Given the description of an element on the screen output the (x, y) to click on. 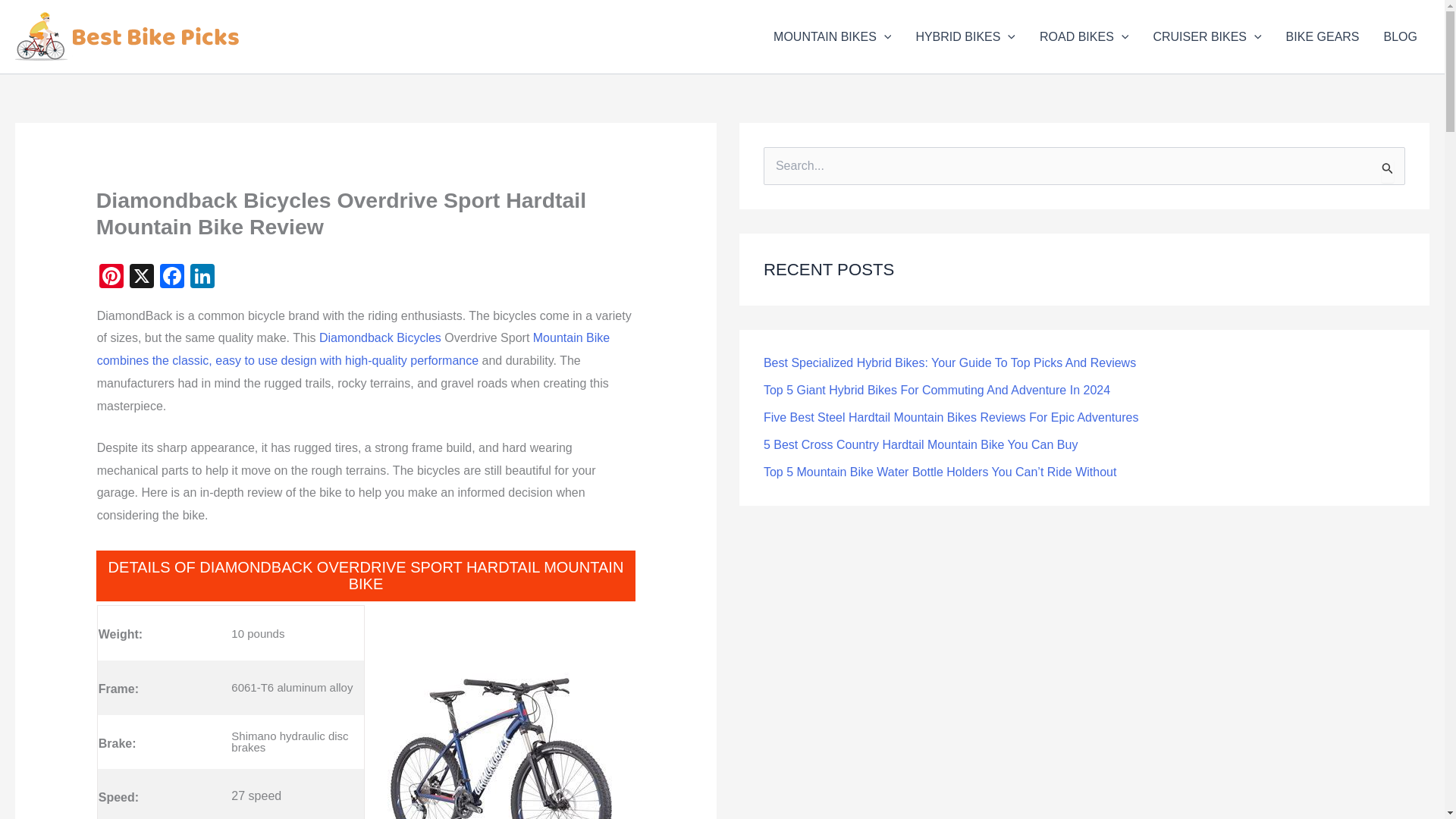
X (141, 277)
CRUISER BIKES (1206, 36)
HYBRID BIKES (964, 36)
Pinterest (111, 277)
ROAD BIKES (1083, 36)
LinkedIn (201, 277)
MOUNTAIN BIKES (831, 36)
Facebook (172, 277)
